Given the description of an element on the screen output the (x, y) to click on. 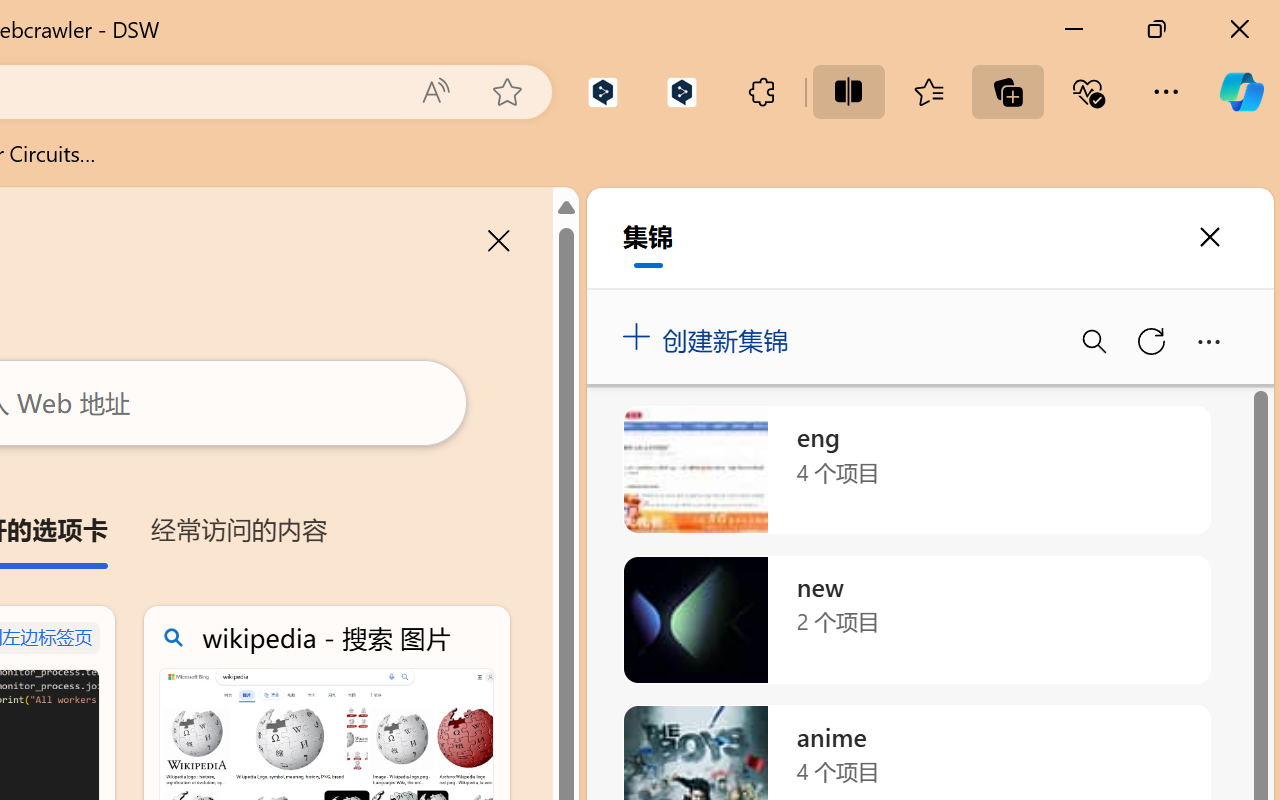
Copilot (Ctrl+Shift+.) (1241, 91)
